Given the description of an element on the screen output the (x, y) to click on. 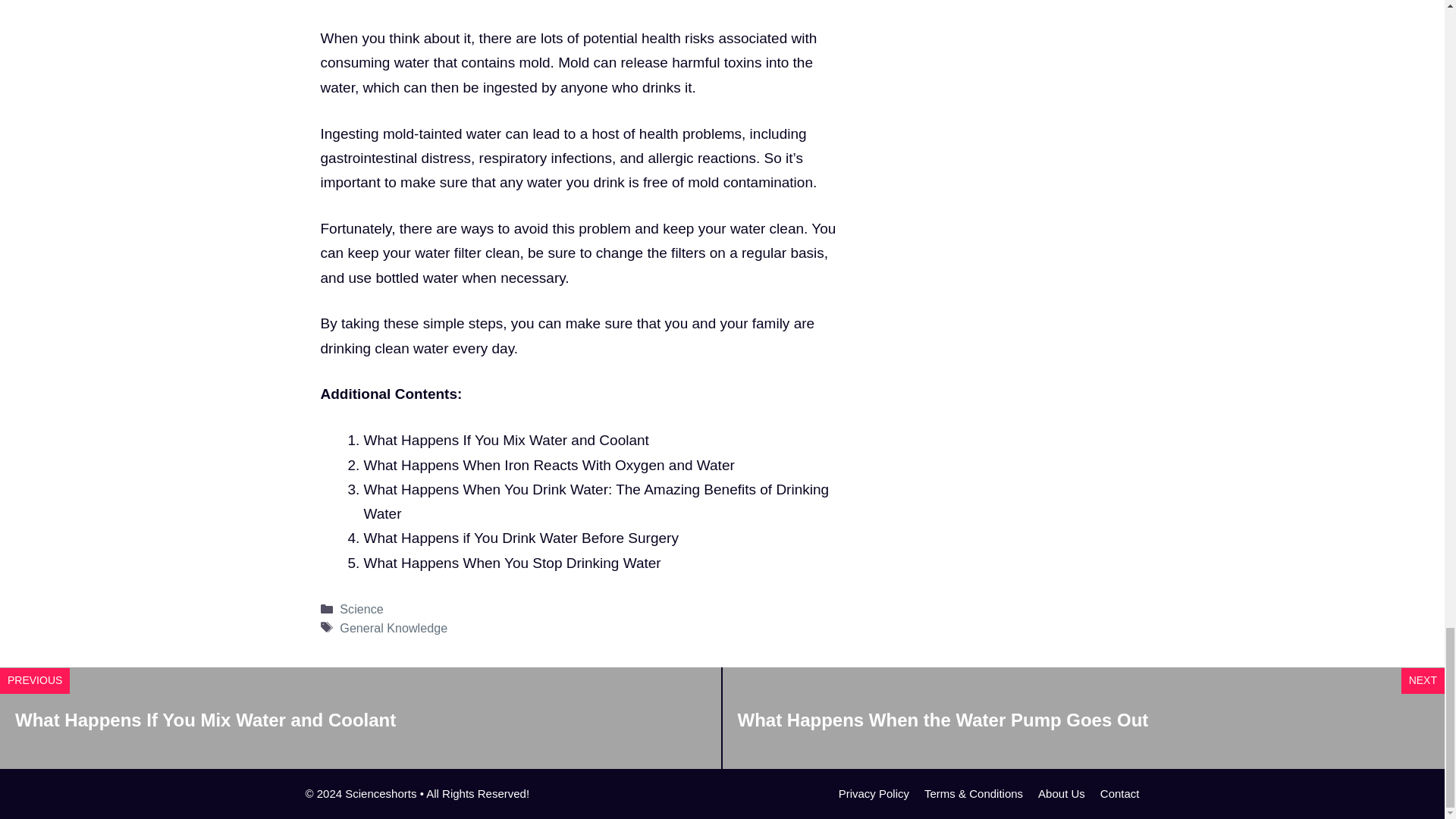
What Happens When Iron Reacts With Oxygen and Water (549, 465)
What Happens if You Drink Water Before Surgery (521, 537)
What Happens When You Stop Drinking Water (512, 562)
Privacy Policy (873, 793)
Science (360, 608)
What Happens If You Mix Water and Coolant (205, 720)
General Knowledge (392, 627)
What Happens If You Mix Water and Coolant (506, 439)
What Happens When the Water Pump Goes Out (942, 720)
About Us (1061, 793)
Contact (1120, 793)
